Given the description of an element on the screen output the (x, y) to click on. 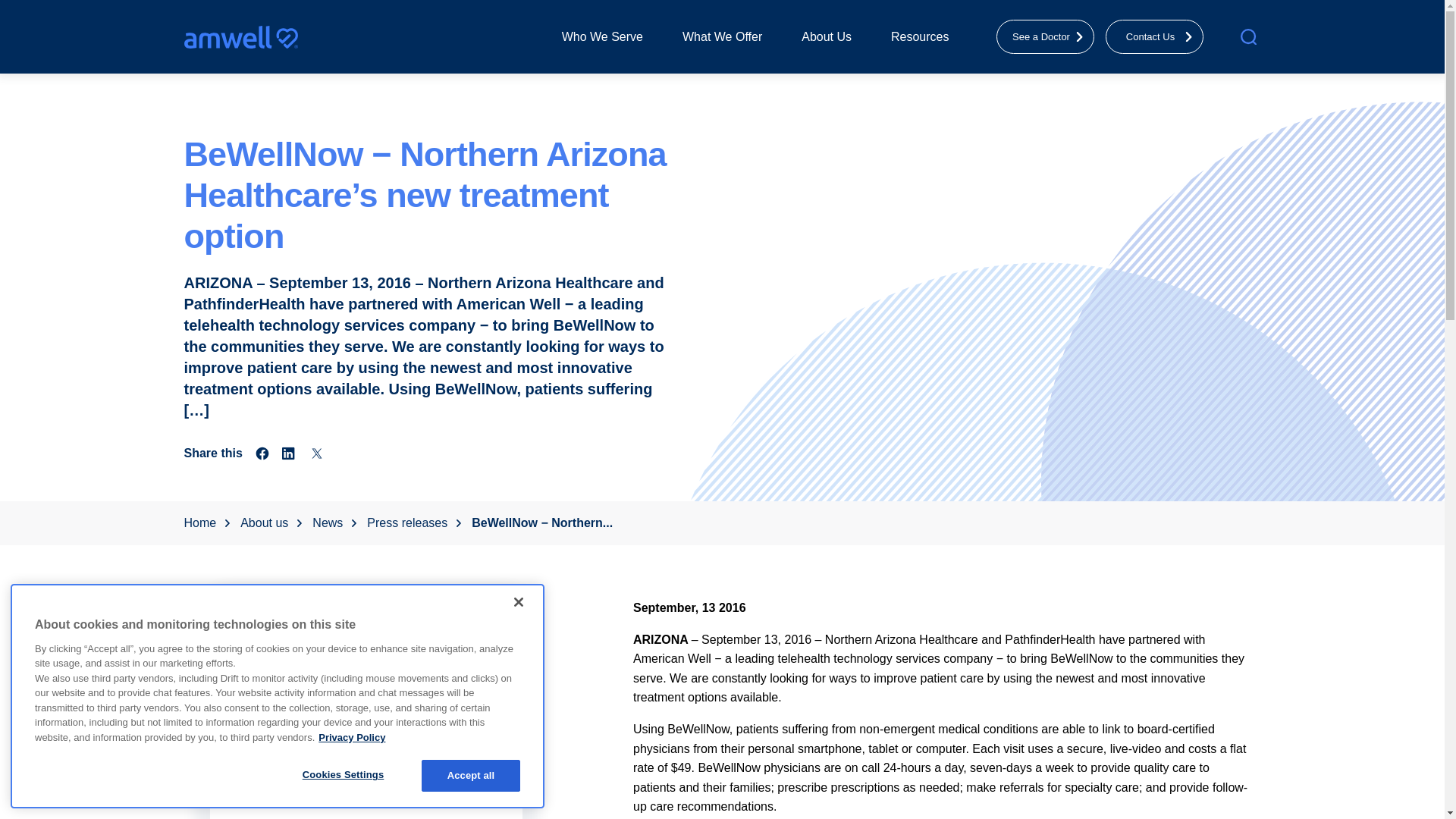
See a Doctor (1044, 36)
Resources (919, 36)
Who We Serve (602, 36)
Contact Us (1154, 36)
What We Offer (722, 36)
